Given the description of an element on the screen output the (x, y) to click on. 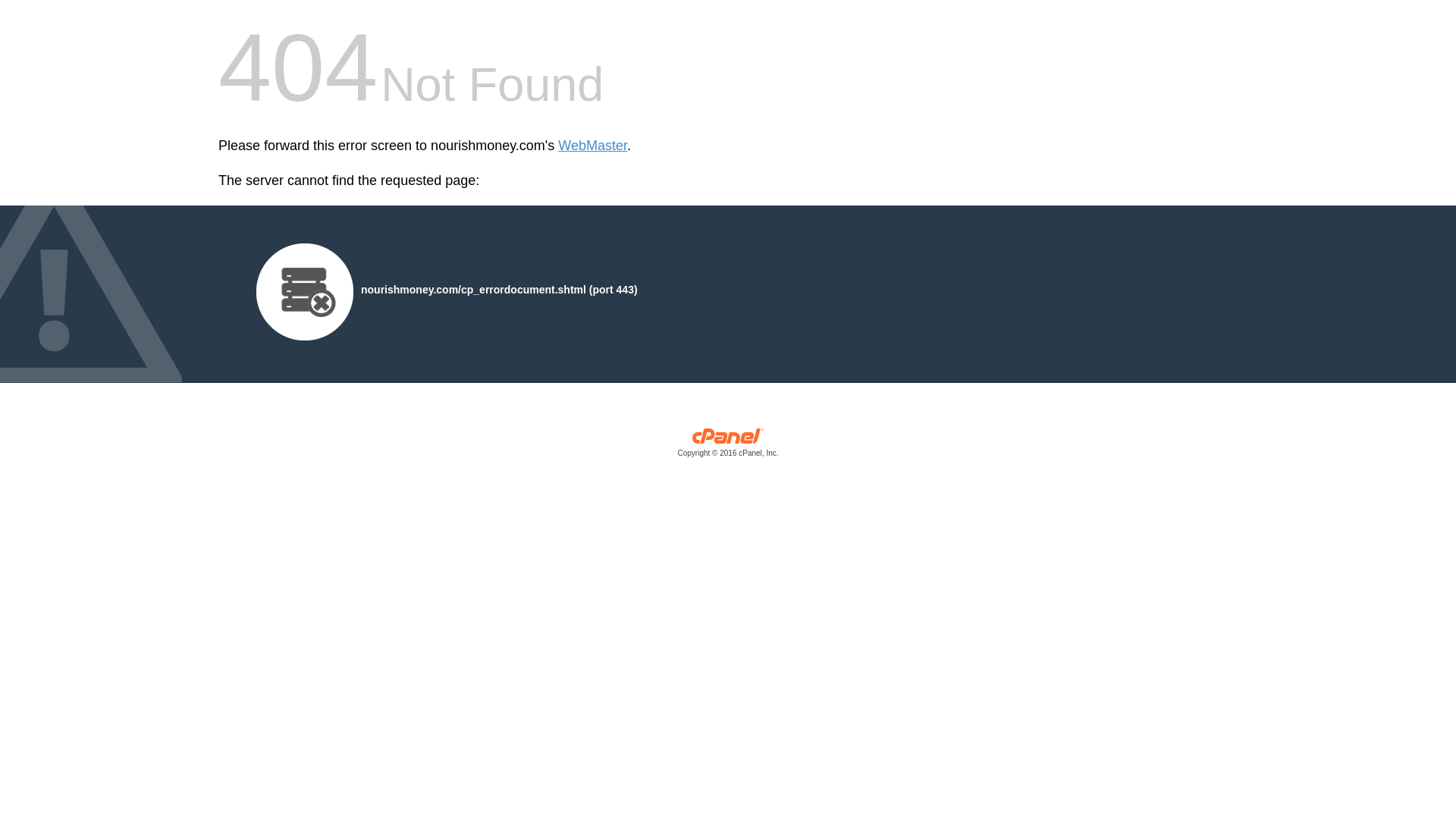
cPanel, Inc. (727, 446)
WebMaster (592, 145)
